Given the description of an element on the screen output the (x, y) to click on. 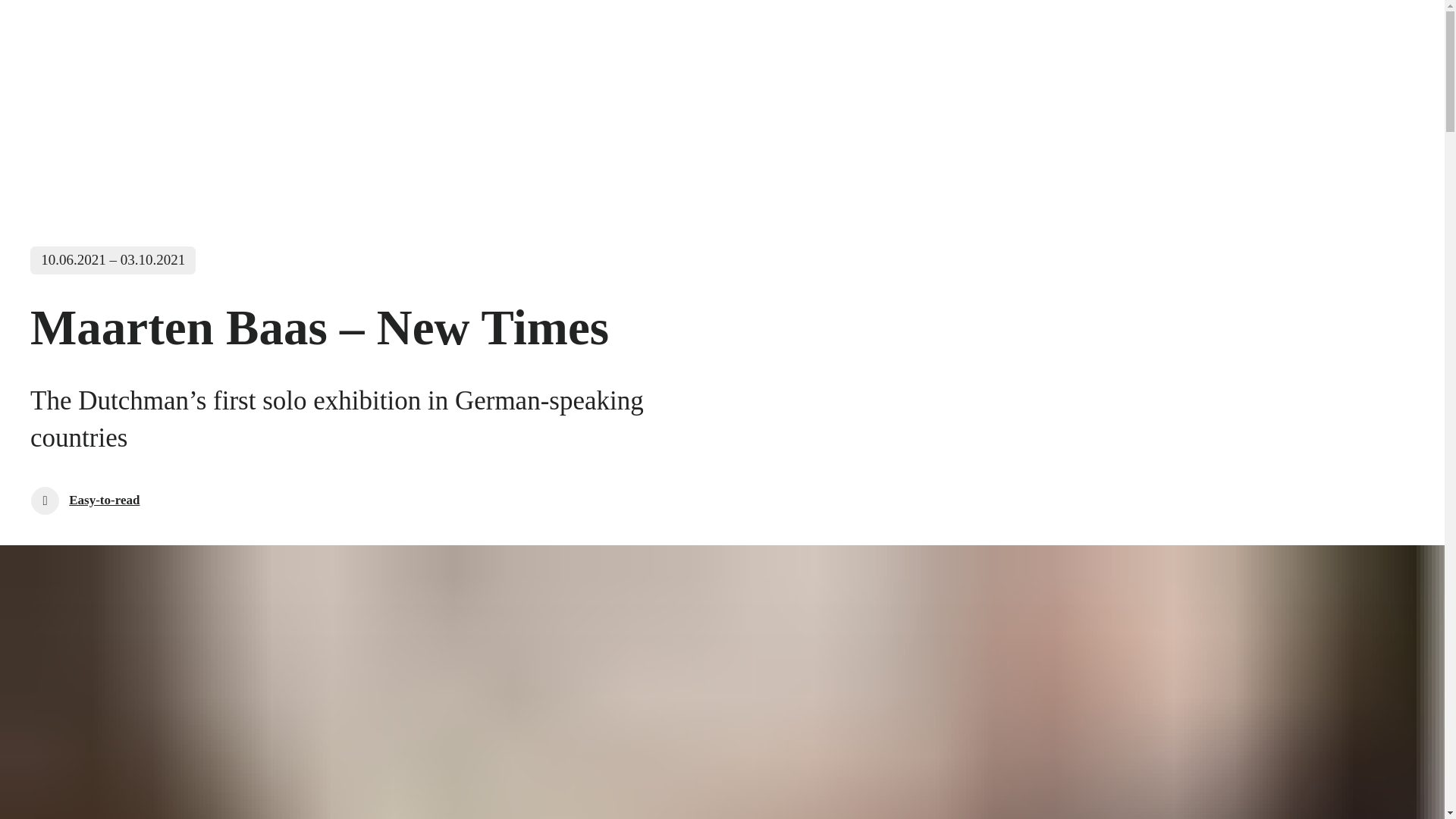
Easy-to-read (84, 500)
